Given the description of an element on the screen output the (x, y) to click on. 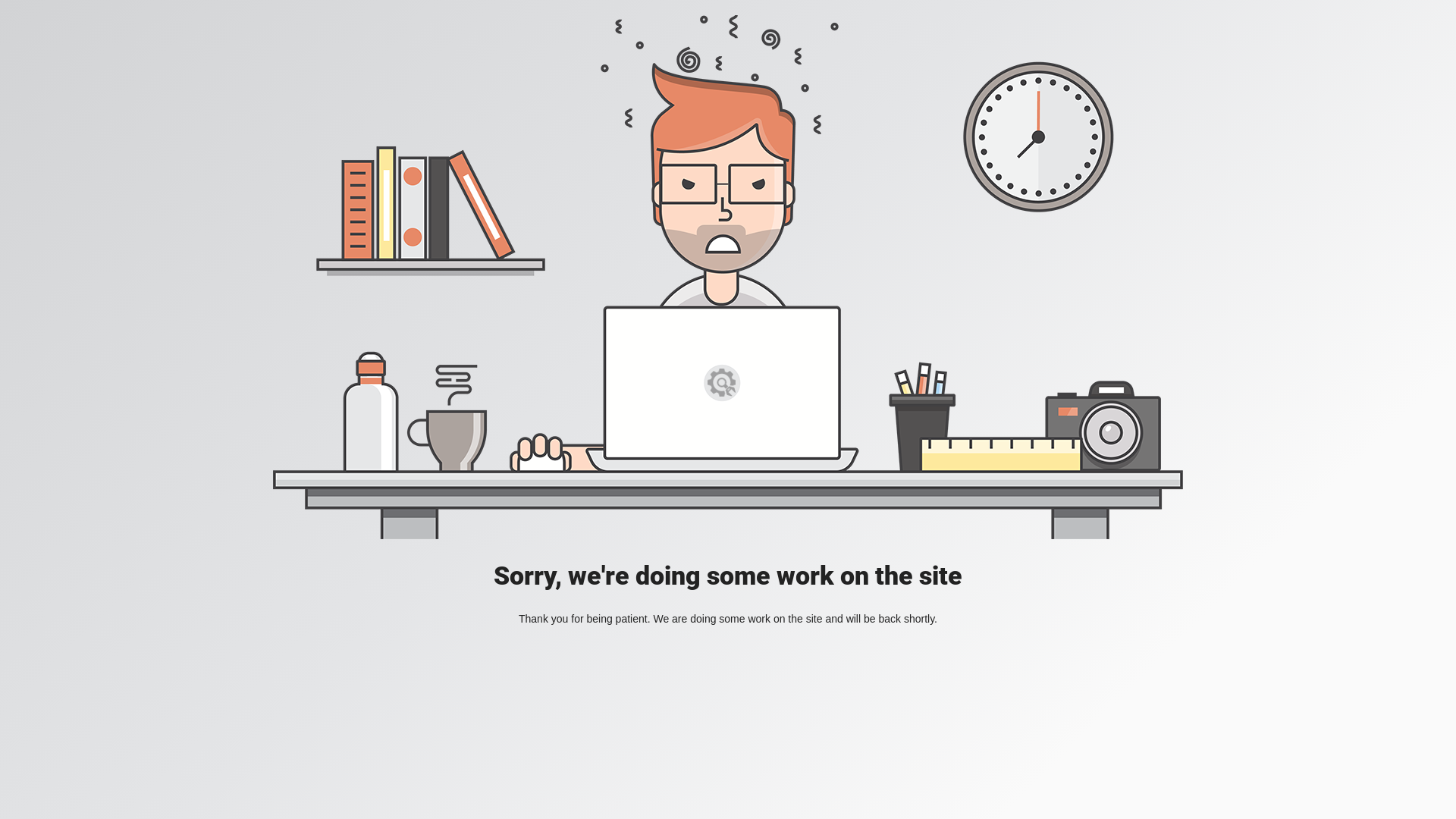
Mad Designer at work Element type: hover (728, 277)
